Given the description of an element on the screen output the (x, y) to click on. 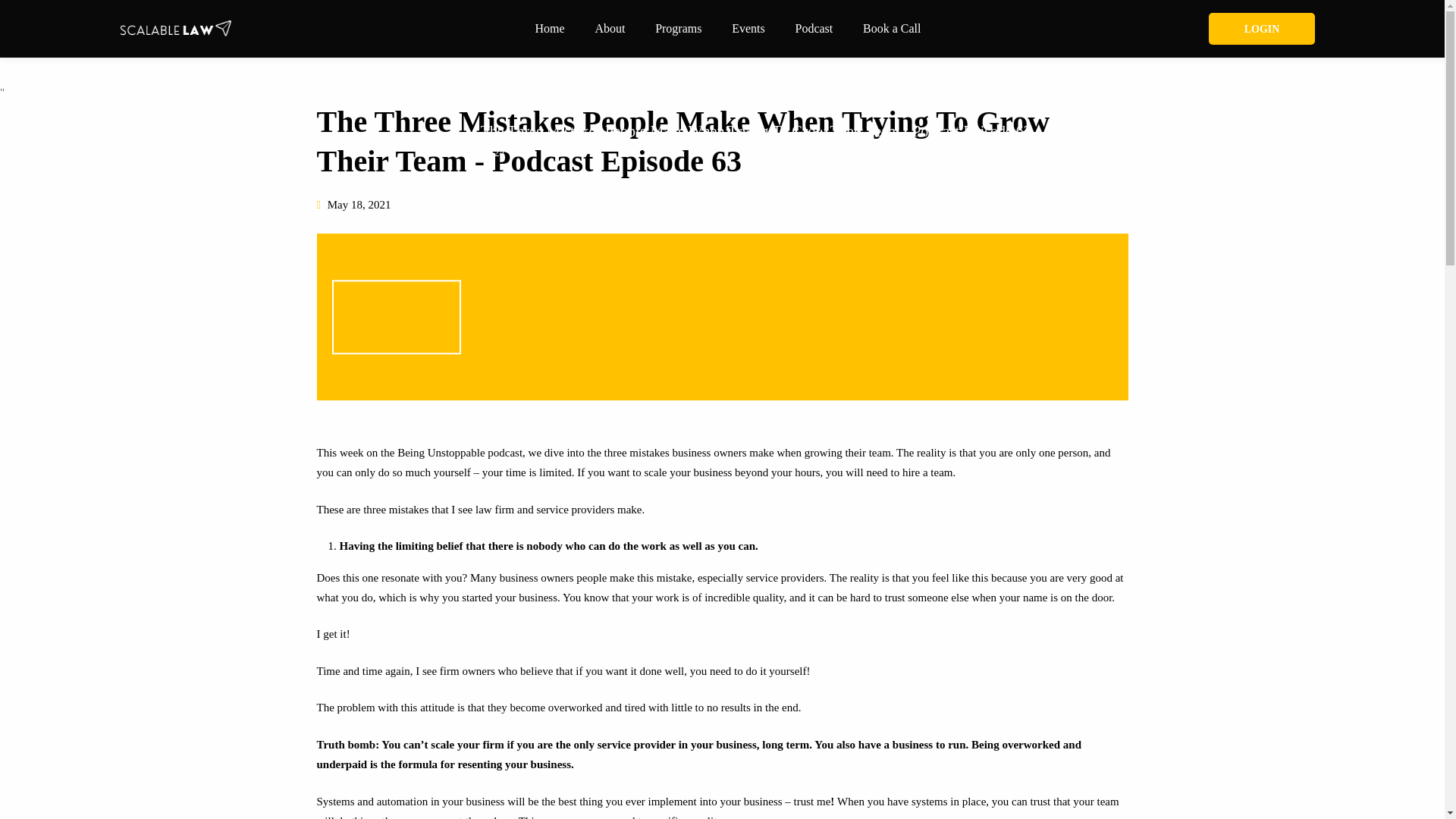
Home (549, 28)
About (609, 28)
LOGIN (1261, 29)
Book a Call (891, 28)
Events (747, 28)
Programs (678, 28)
Podcast (812, 28)
